Given the description of an element on the screen output the (x, y) to click on. 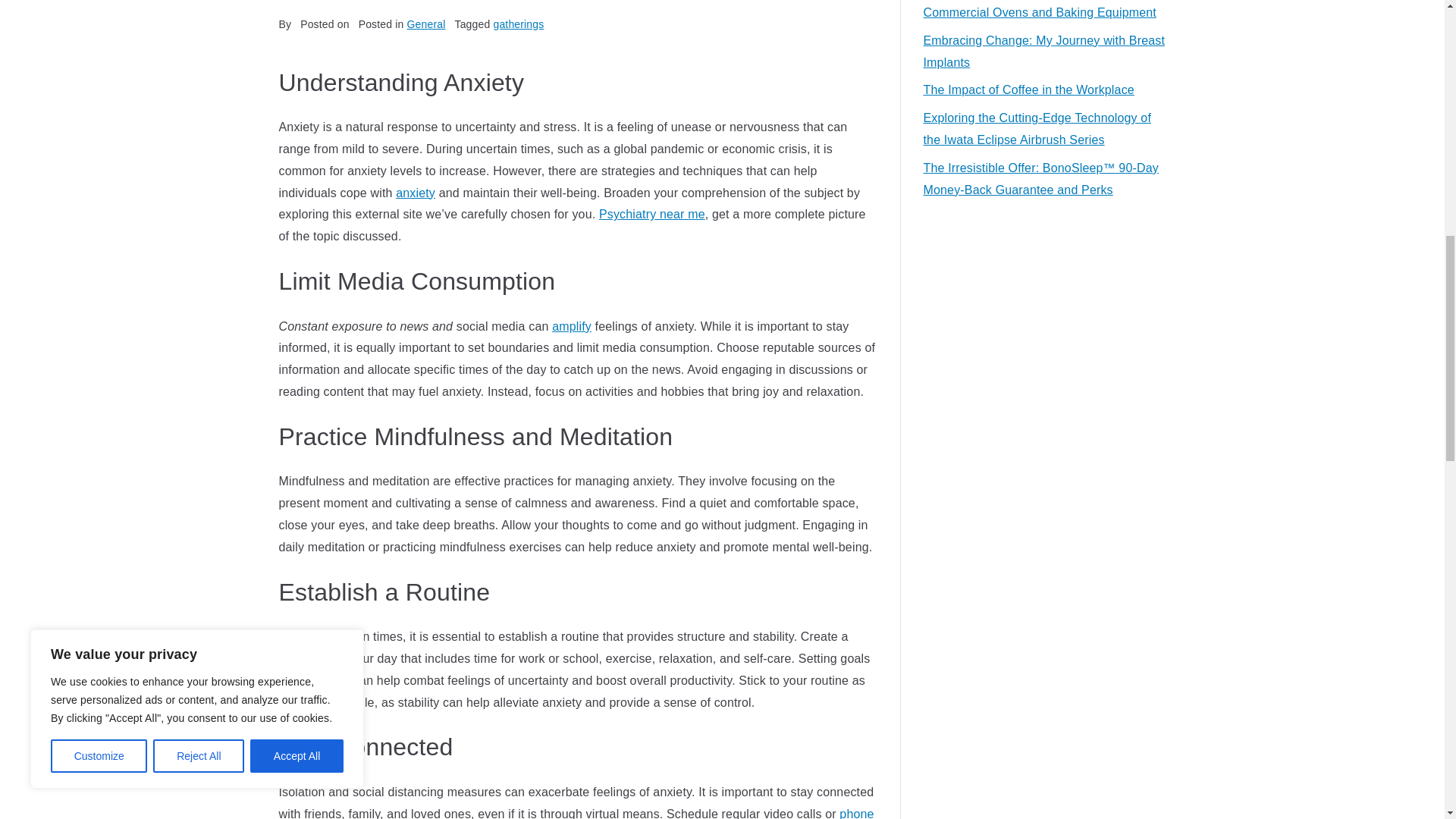
gatherings (518, 24)
General (426, 24)
anxiety (415, 192)
amplify (571, 326)
phone conversations (577, 813)
Psychiatry near me (651, 214)
